Given the description of an element on the screen output the (x, y) to click on. 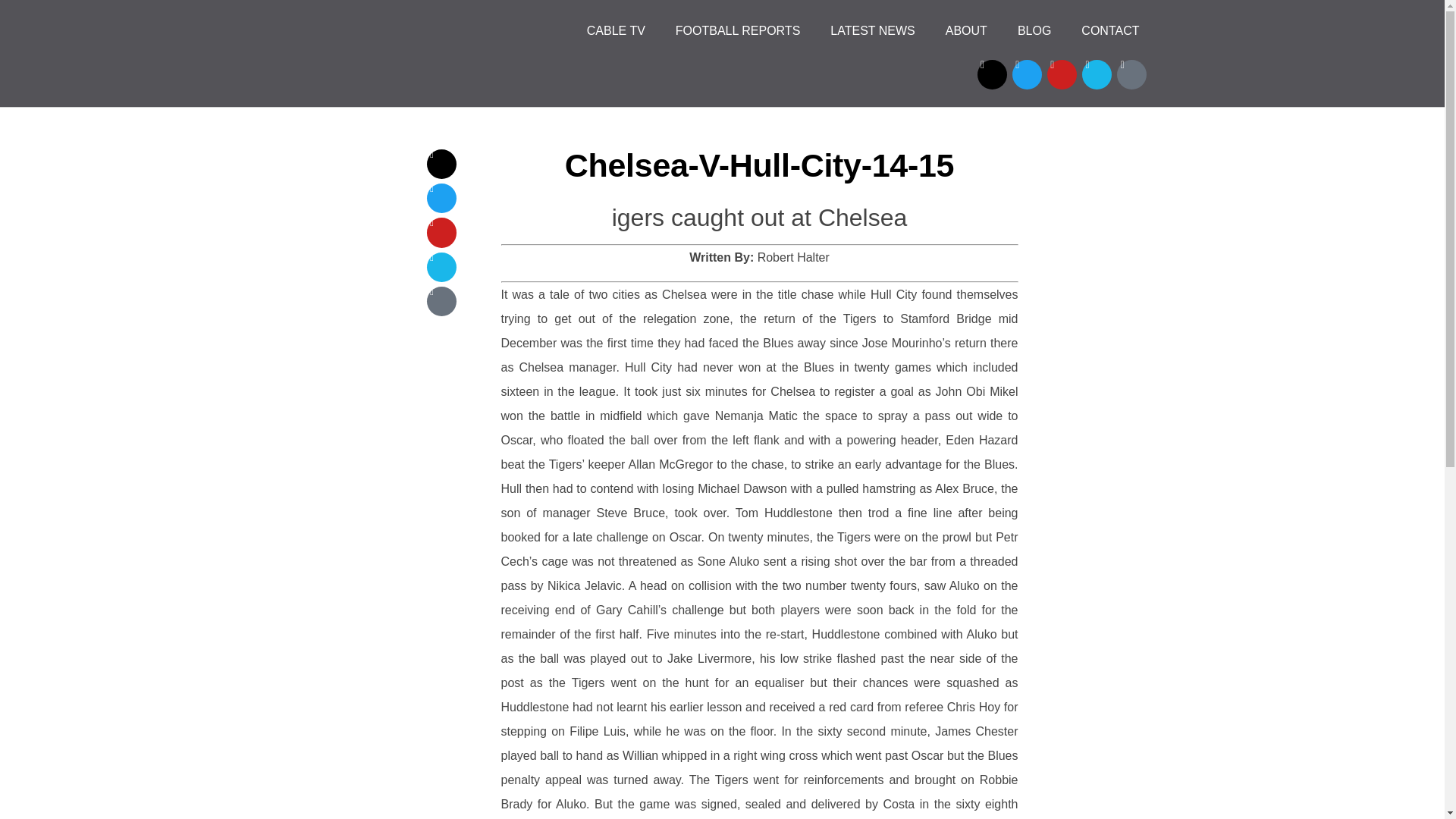
CONTACT (1109, 30)
FOOTBALL REPORTS (738, 30)
LATEST NEWS (872, 30)
BLOG (1034, 30)
CABLE TV (616, 30)
ABOUT (966, 30)
